Given the description of an element on the screen output the (x, y) to click on. 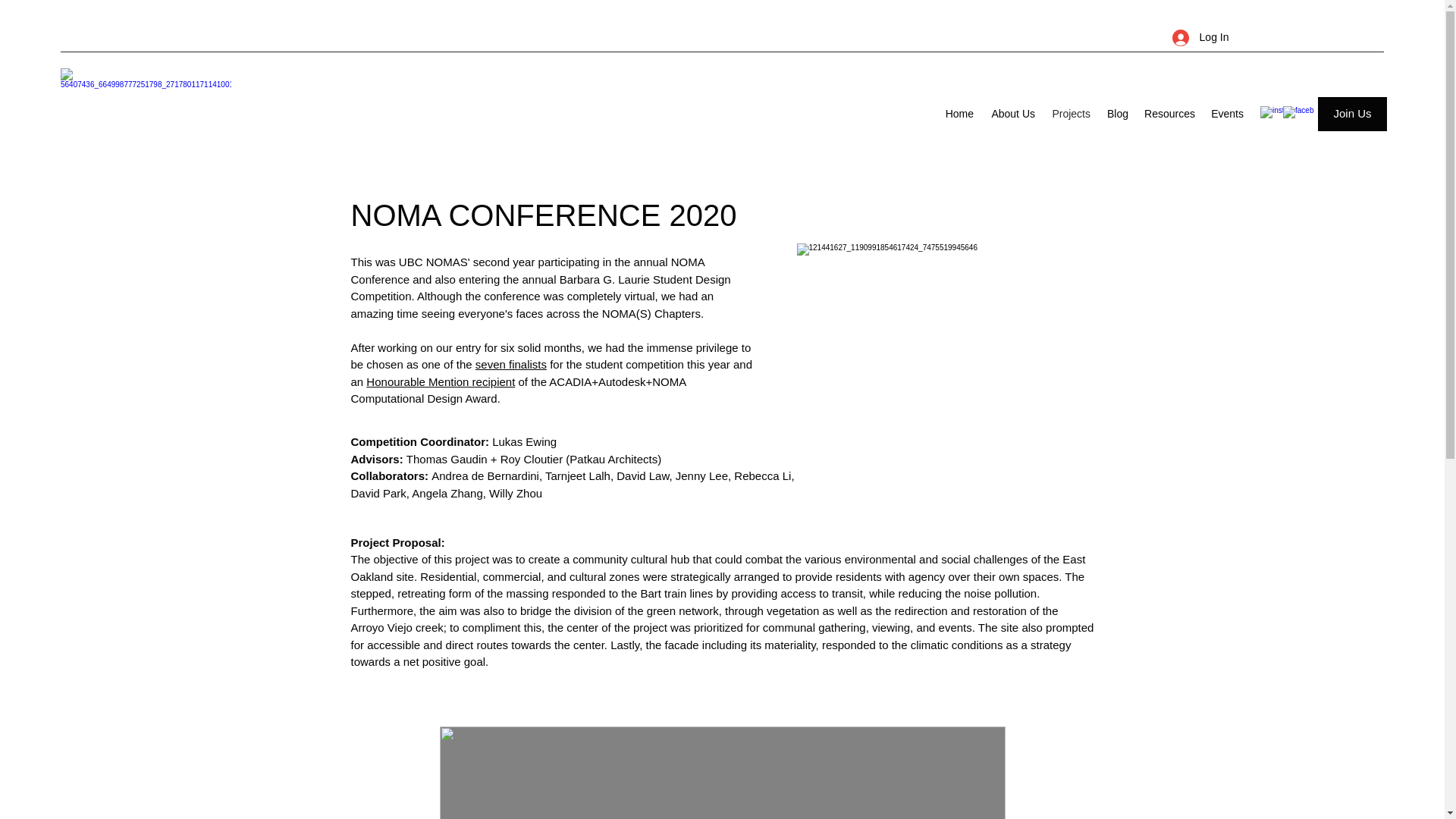
Events (1226, 113)
seven finalists (511, 364)
Home (958, 113)
Honourable Mention recipient (440, 380)
Log In (1200, 37)
About Us (1011, 113)
Blog (1116, 113)
Projects (1069, 113)
Join Us (1352, 114)
Resources (1168, 113)
